Given the description of an element on the screen output the (x, y) to click on. 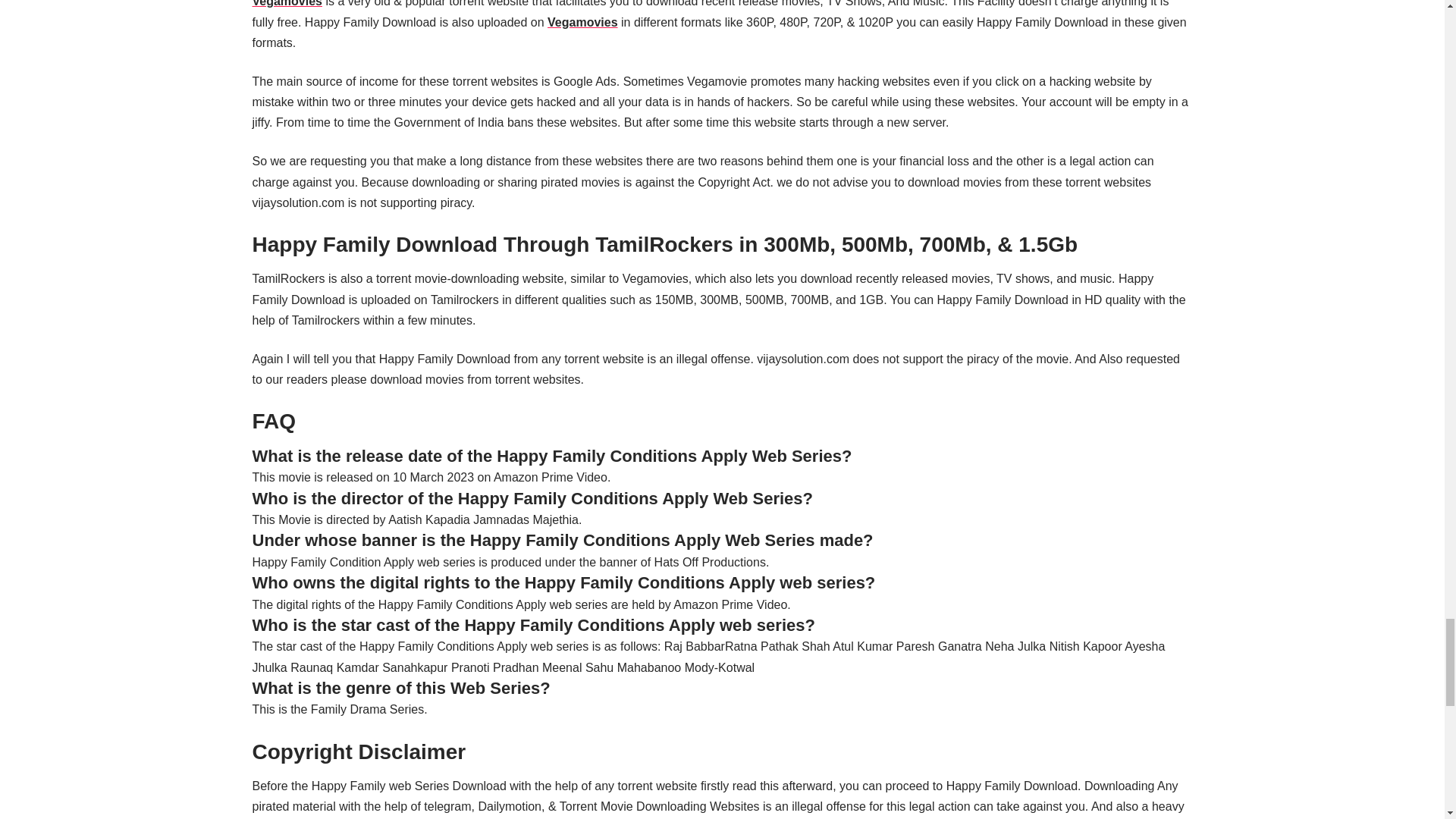
Vegamovies (286, 3)
Vegamovies (582, 21)
